Given the description of an element on the screen output the (x, y) to click on. 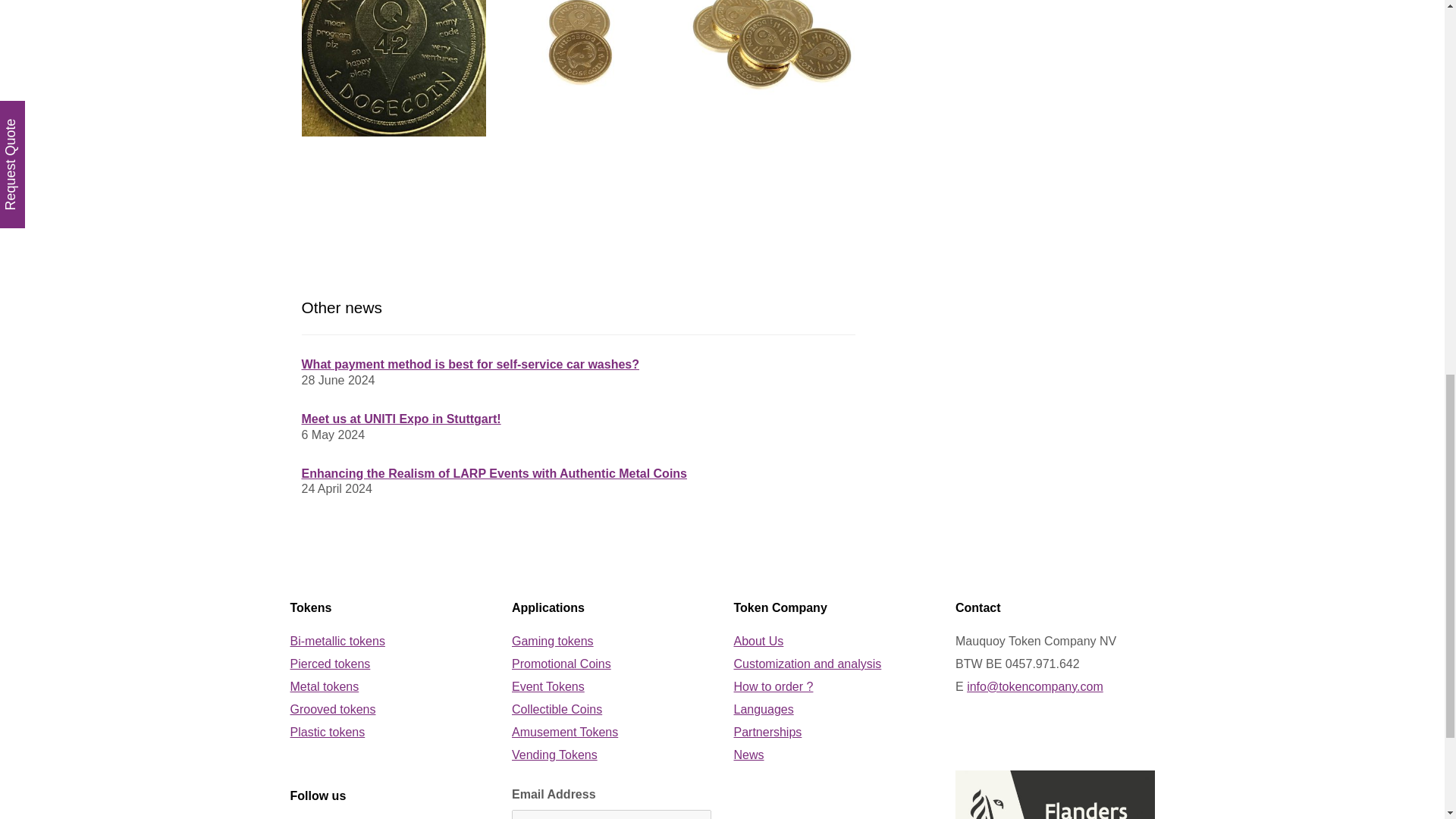
Collectible Coins (557, 708)
Bi-metallic tokens (336, 640)
Promotional Coins (561, 663)
Amusement Tokens (564, 731)
Grooved tokens (332, 708)
Metal tokens (323, 686)
Vending Tokens (554, 754)
Gaming tokens (553, 640)
Pierced tokens (329, 663)
Plastic tokens (327, 731)
